Given the description of an element on the screen output the (x, y) to click on. 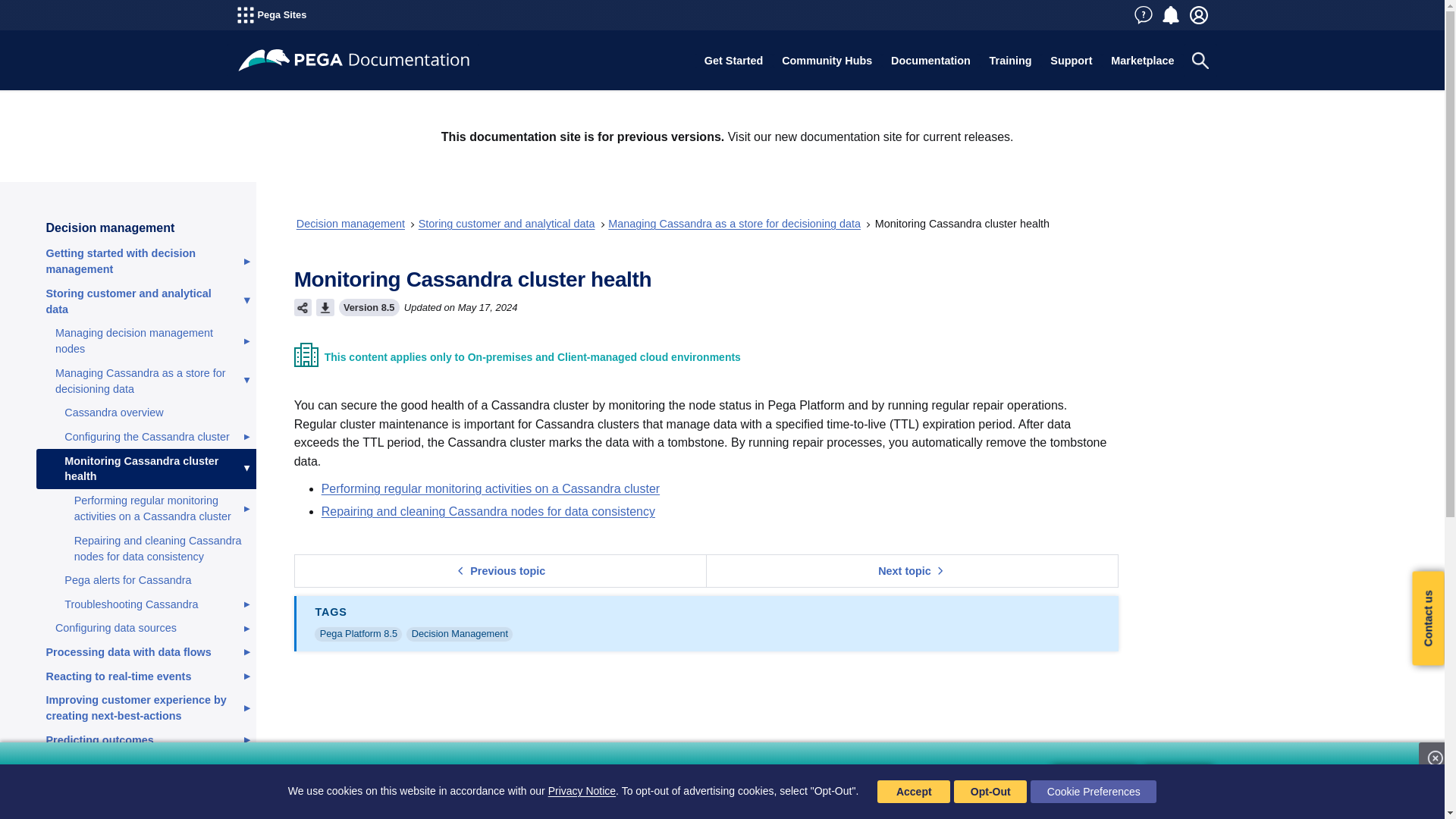
Toggle Search Panel (1200, 60)
Community Hubs (827, 60)
Get Started (732, 60)
